Given the description of an element on the screen output the (x, y) to click on. 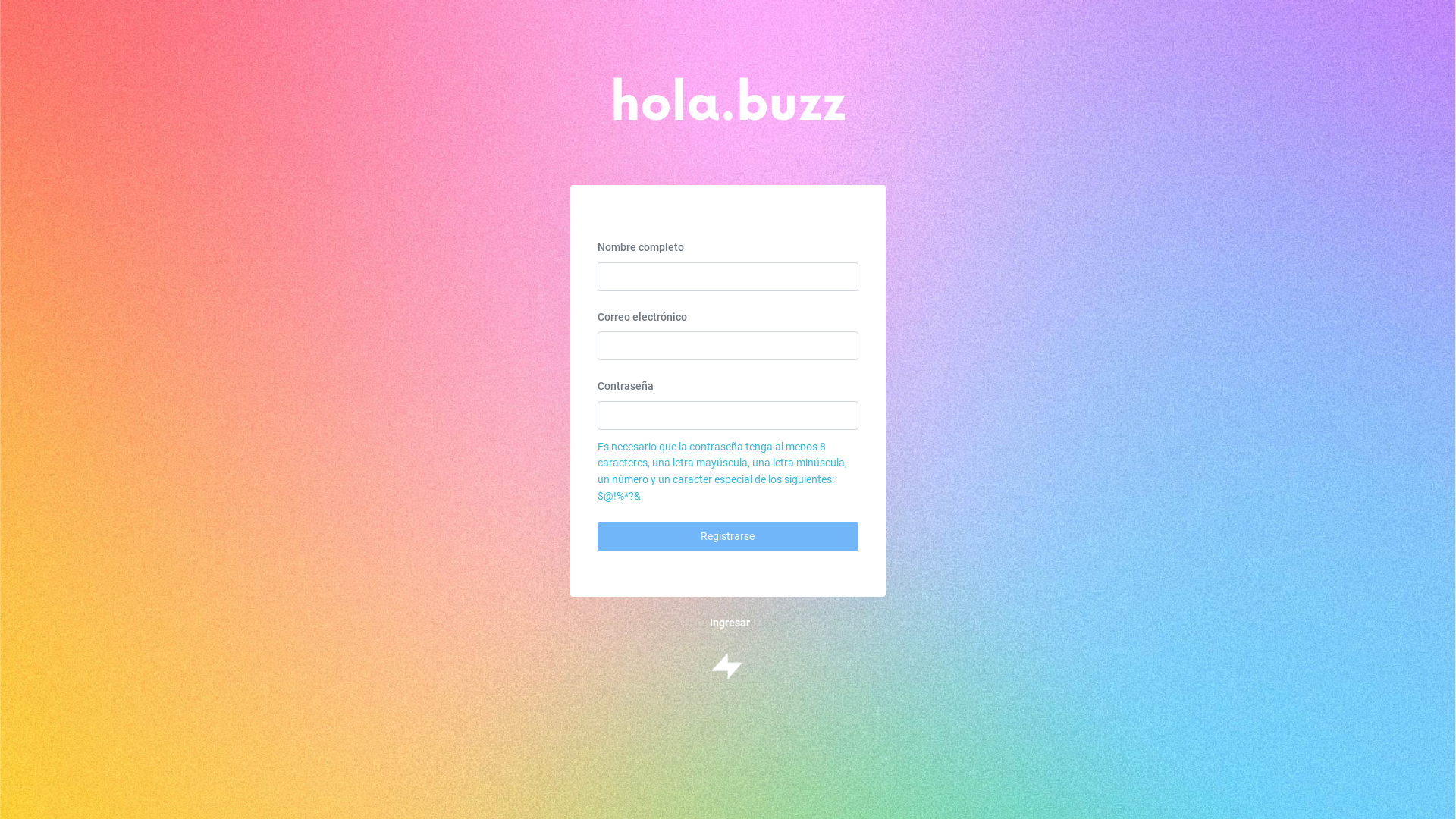
Ingresar Element type: text (729, 622)
Registrarse Element type: text (727, 536)
